Given the description of an element on the screen output the (x, y) to click on. 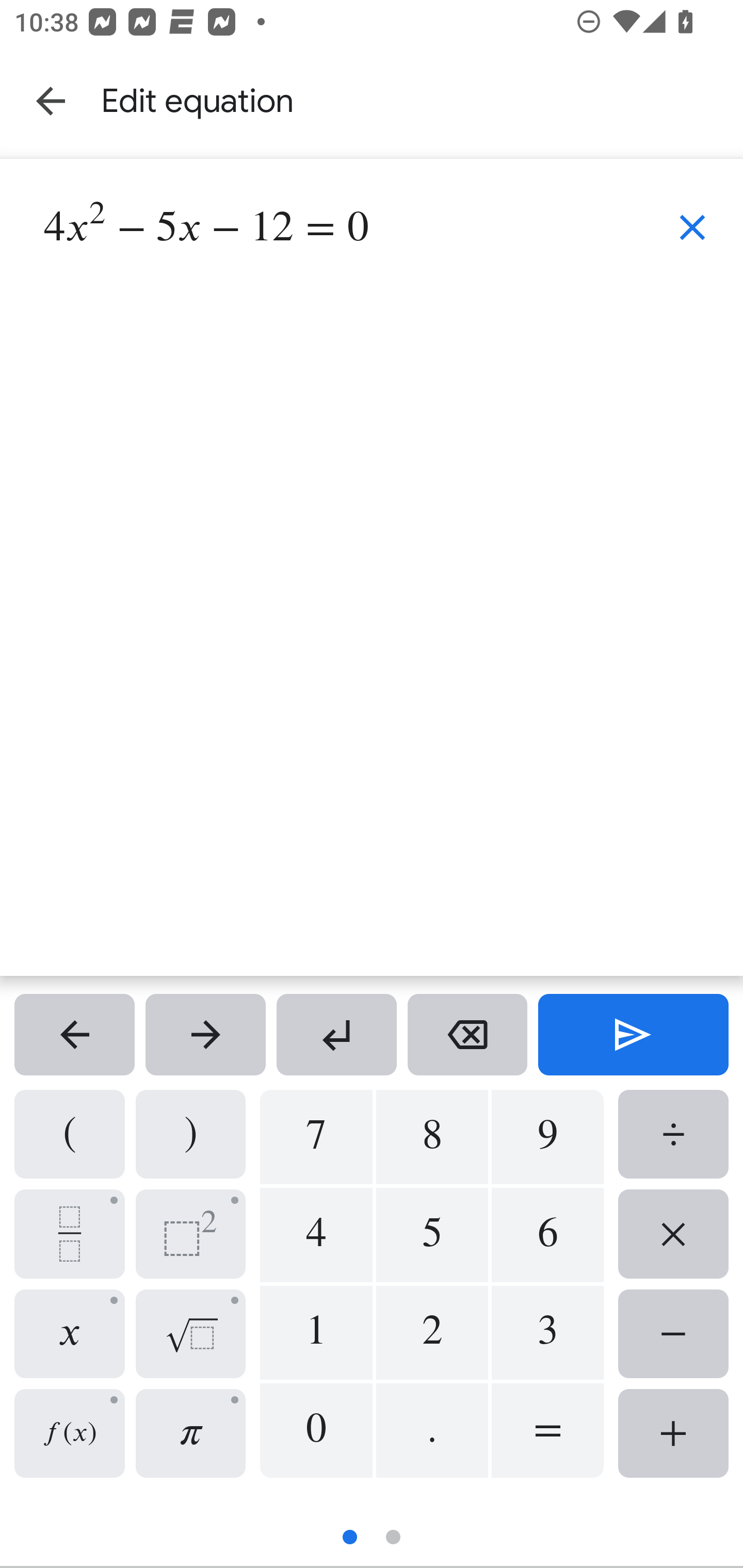
Go back (50, 101)
4x^{2}-5x-12=0 (335, 566)
Clear entered math equation (692, 227)
Move cursor left (74, 1034)
Move cursor right (205, 1034)
New row (336, 1034)
Backspace (467, 1034)
Send (632, 1034)
Left parenthesis (69, 1134)
Right parenthesis (190, 1134)
7 (316, 1136)
8 (431, 1136)
9 (547, 1136)
Division sign (673, 1134)
4 (316, 1235)
5 (431, 1235)
6 (547, 1235)
Fraction (69, 1233)
To the second power (190, 1233)
Multiplication sign (673, 1233)
1 (316, 1332)
2 (431, 1332)
3 (547, 1332)
𝑥 (69, 1333)
Square root (190, 1333)
Minus sign (673, 1333)
0 (316, 1429)
Decimal point (431, 1429)
Equals (547, 1429)
F of x (69, 1433)
Pi (190, 1433)
Plus sign (673, 1433)
